Given the description of an element on the screen output the (x, y) to click on. 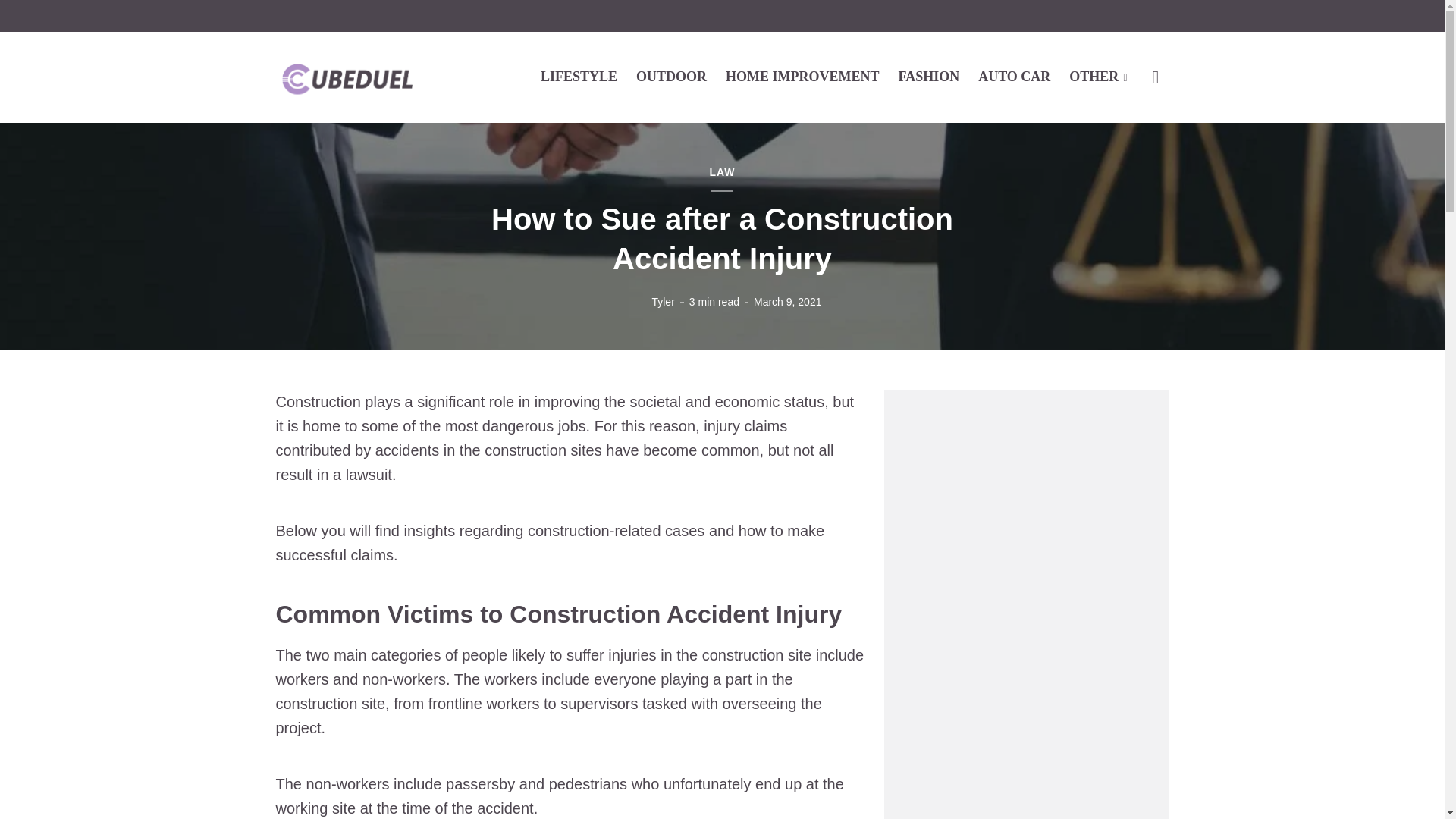
HOME IMPROVEMENT (802, 76)
LIFESTYLE (578, 76)
OUTDOOR (671, 76)
FASHION (928, 76)
OTHER (1097, 76)
AUTO CAR (1013, 76)
